Given the description of an element on the screen output the (x, y) to click on. 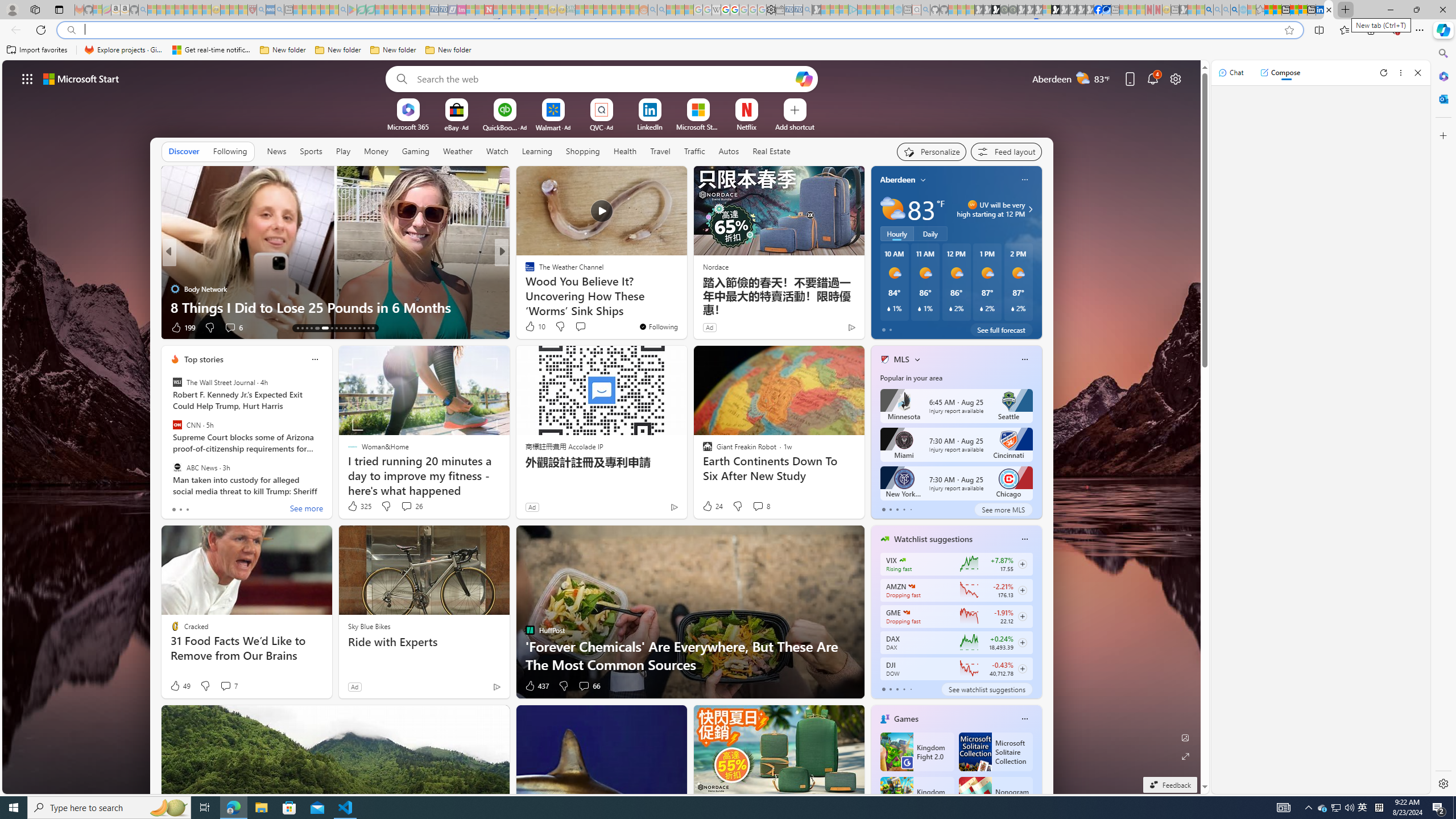
3k Like (530, 327)
Top stories (203, 359)
View comments 6 Comment (576, 327)
Feed settings (1005, 151)
Health (624, 151)
MSN - Sleeping (1183, 9)
